Given the description of an element on the screen output the (x, y) to click on. 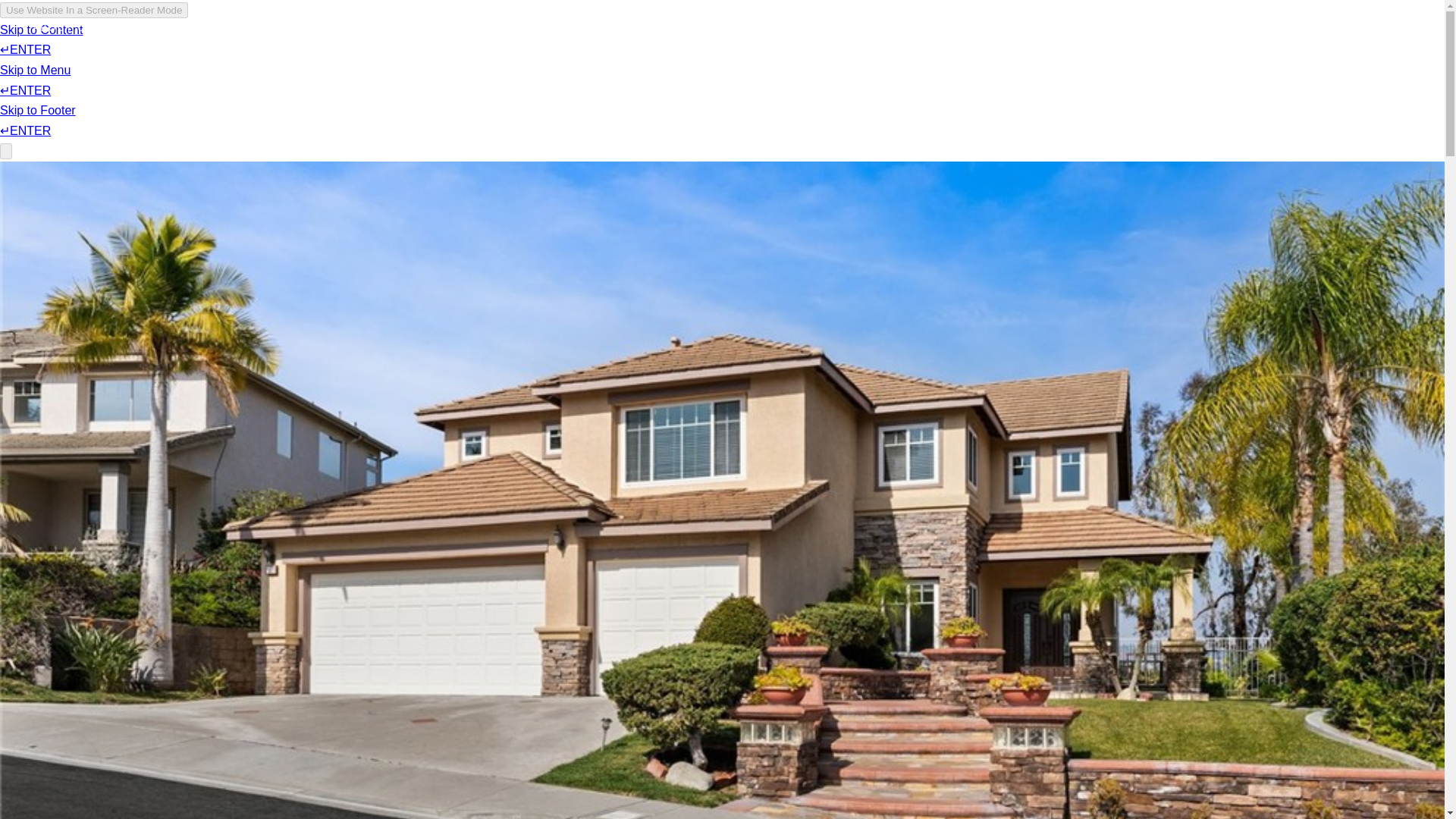
OUR TEAM (153, 60)
JOIN CIRCA (1260, 39)
ABOUT US (63, 63)
CONTACT (1343, 37)
